Given the description of an element on the screen output the (x, y) to click on. 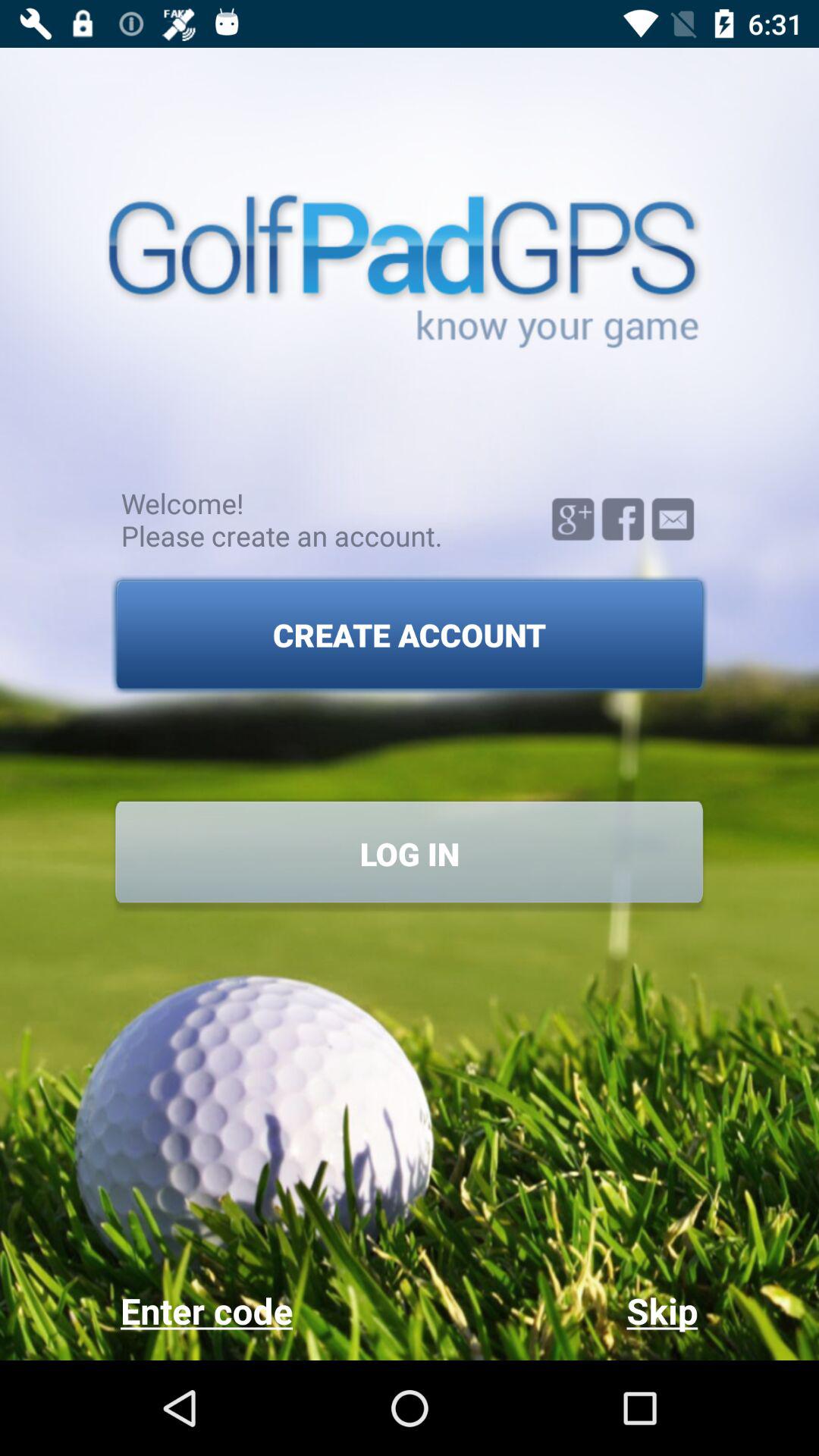
select the item below the log in (264, 1310)
